Given the description of an element on the screen output the (x, y) to click on. 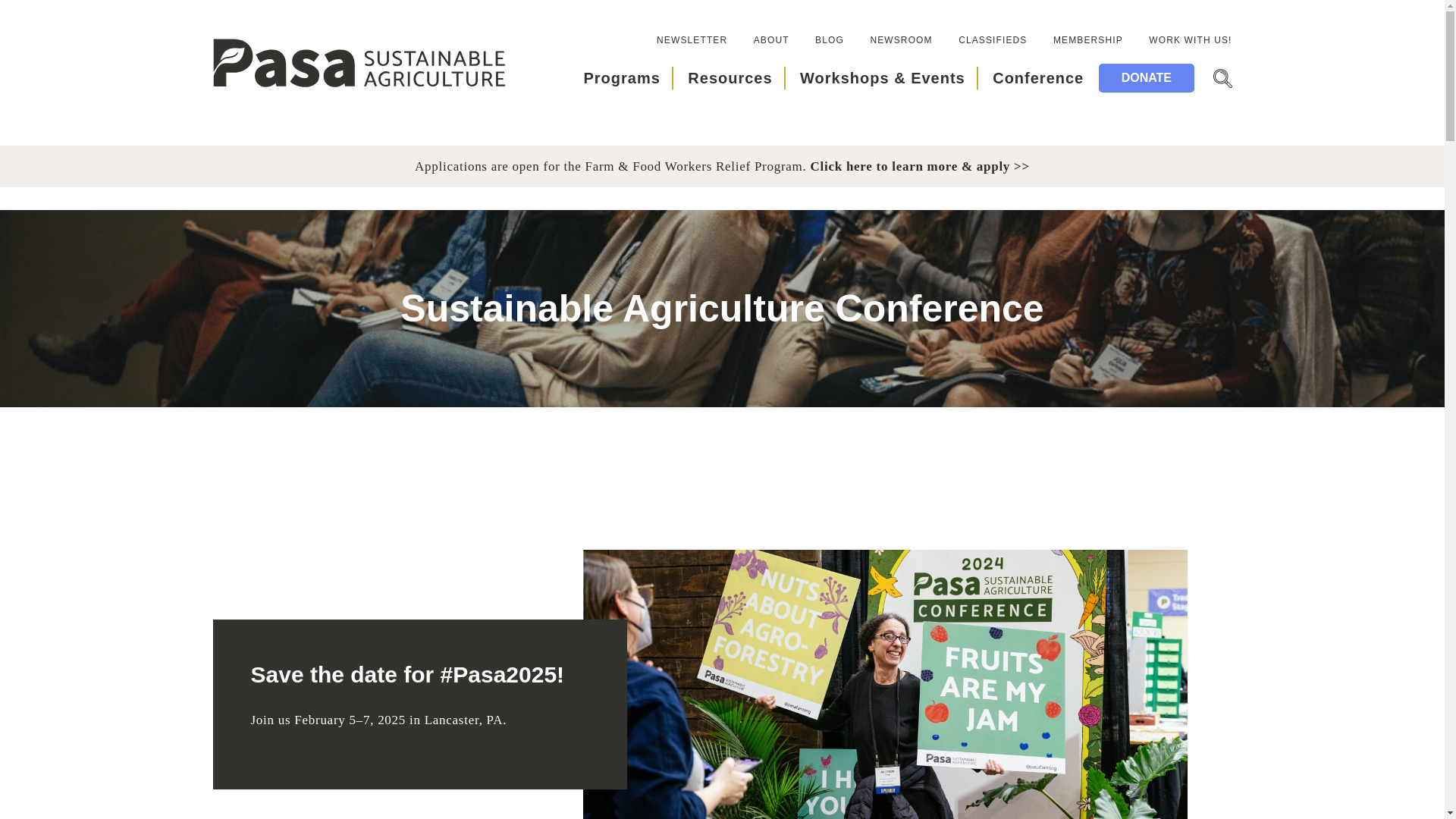
Conference (1037, 77)
Resources (729, 77)
DONATE (1146, 77)
ABOUT (771, 40)
NEWSLETTER (691, 40)
WORK WITH US! (1189, 40)
Programs (621, 77)
CLASSIFIEDS (992, 40)
MEMBERSHIP (1087, 40)
NEWSROOM (900, 40)
